Given the description of an element on the screen output the (x, y) to click on. 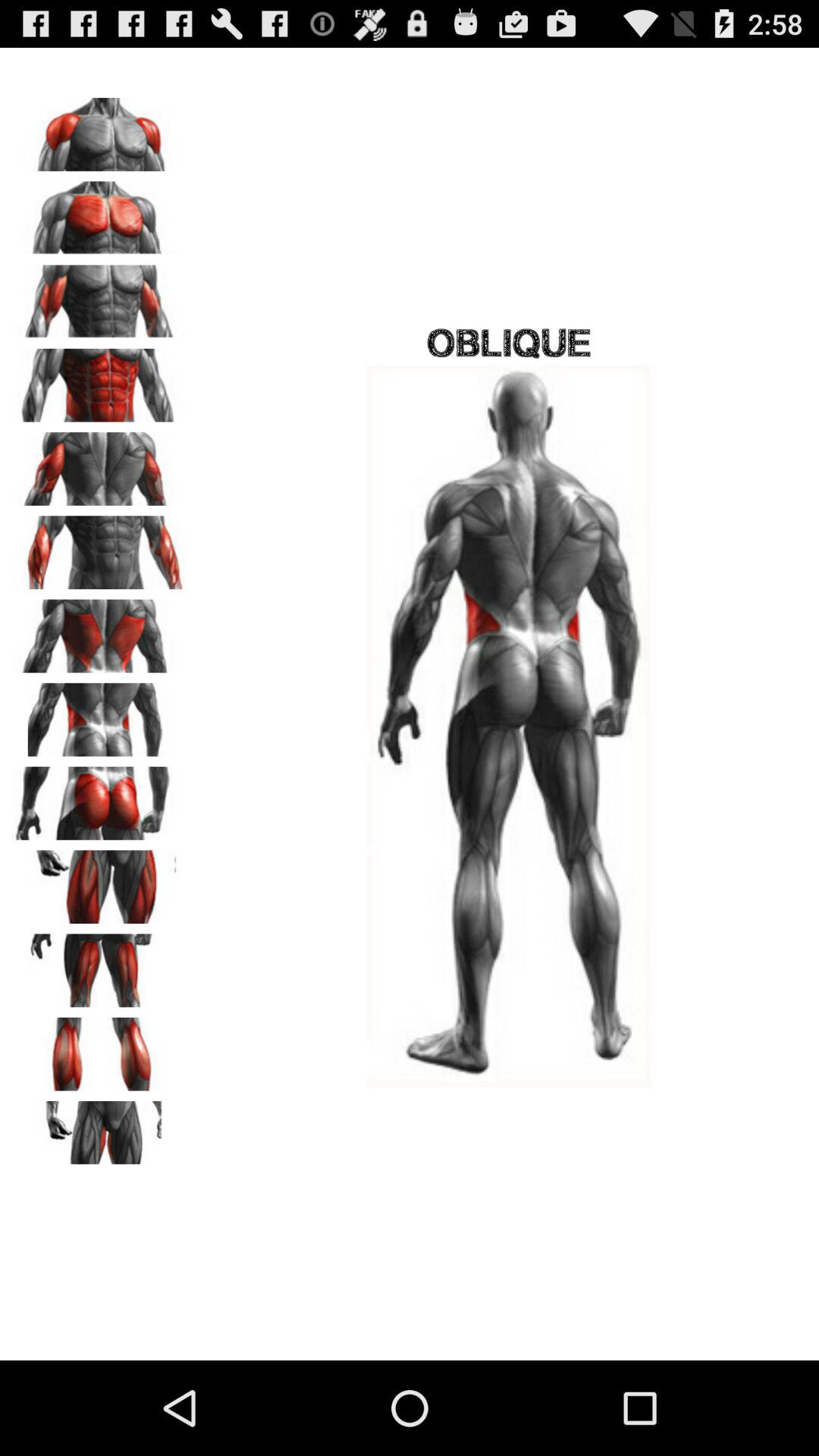
select theme option (99, 1048)
